Given the description of an element on the screen output the (x, y) to click on. 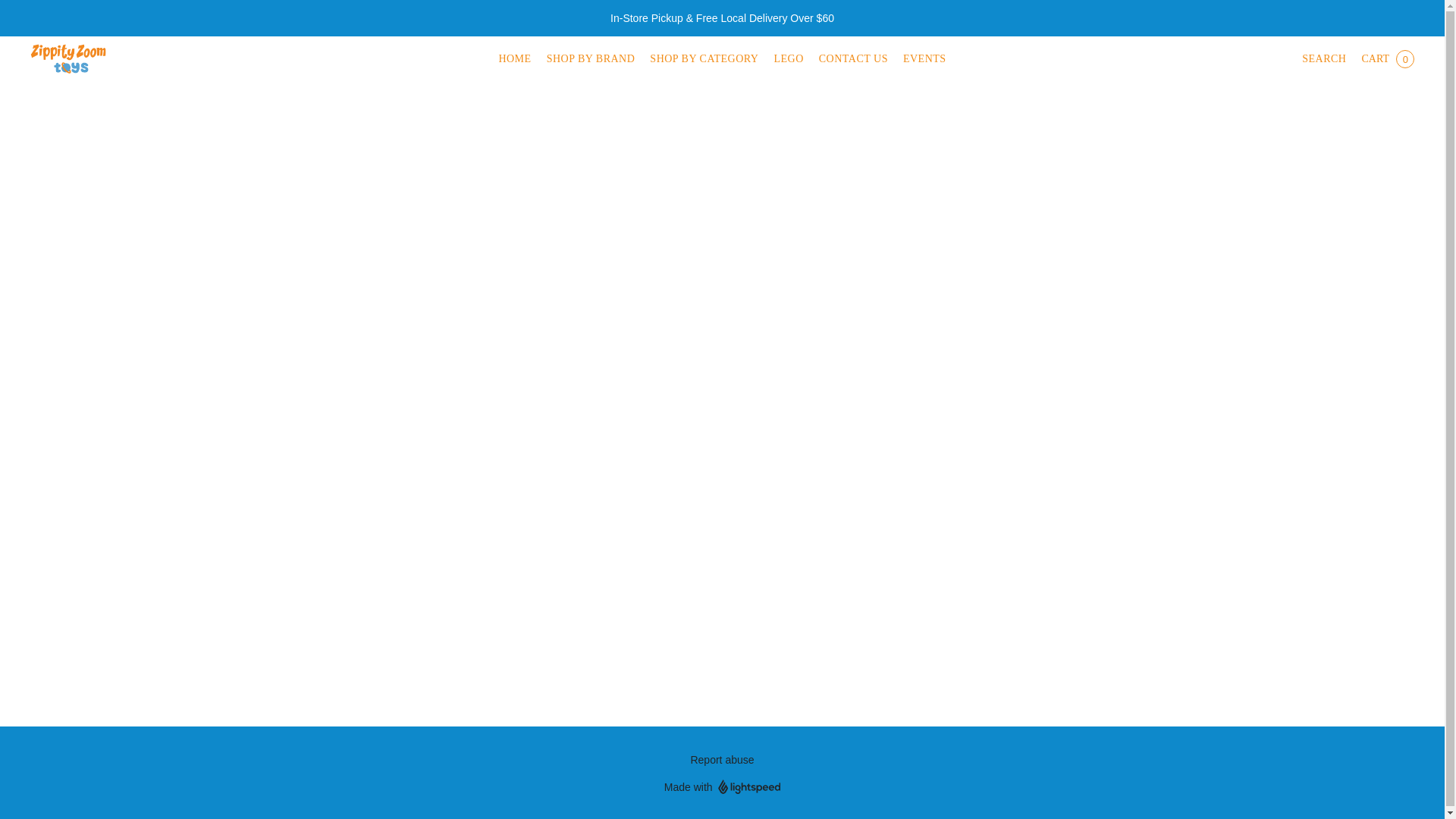
EVENTS (920, 59)
LEGO (787, 59)
CART (1387, 59)
CONTACT US (852, 59)
HOME (517, 59)
Search the website (1323, 59)
Report abuse (722, 760)
SHOP BY CATEGORY (703, 59)
Made with (721, 787)
SHOP BY BRAND (590, 59)
